Given the description of an element on the screen output the (x, y) to click on. 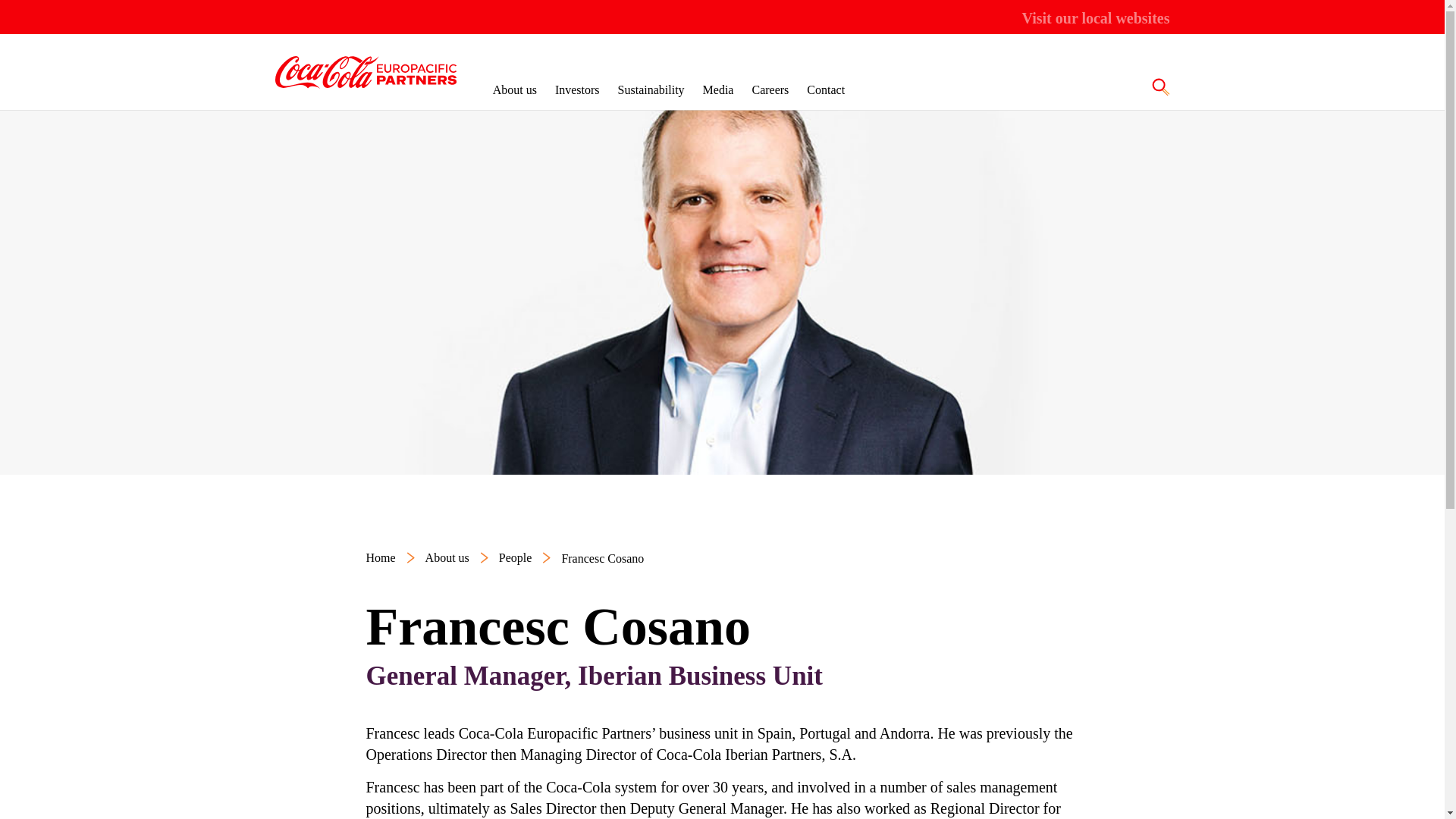
Visit our local websites (1096, 17)
About us (515, 89)
Investors (576, 89)
